Given the description of an element on the screen output the (x, y) to click on. 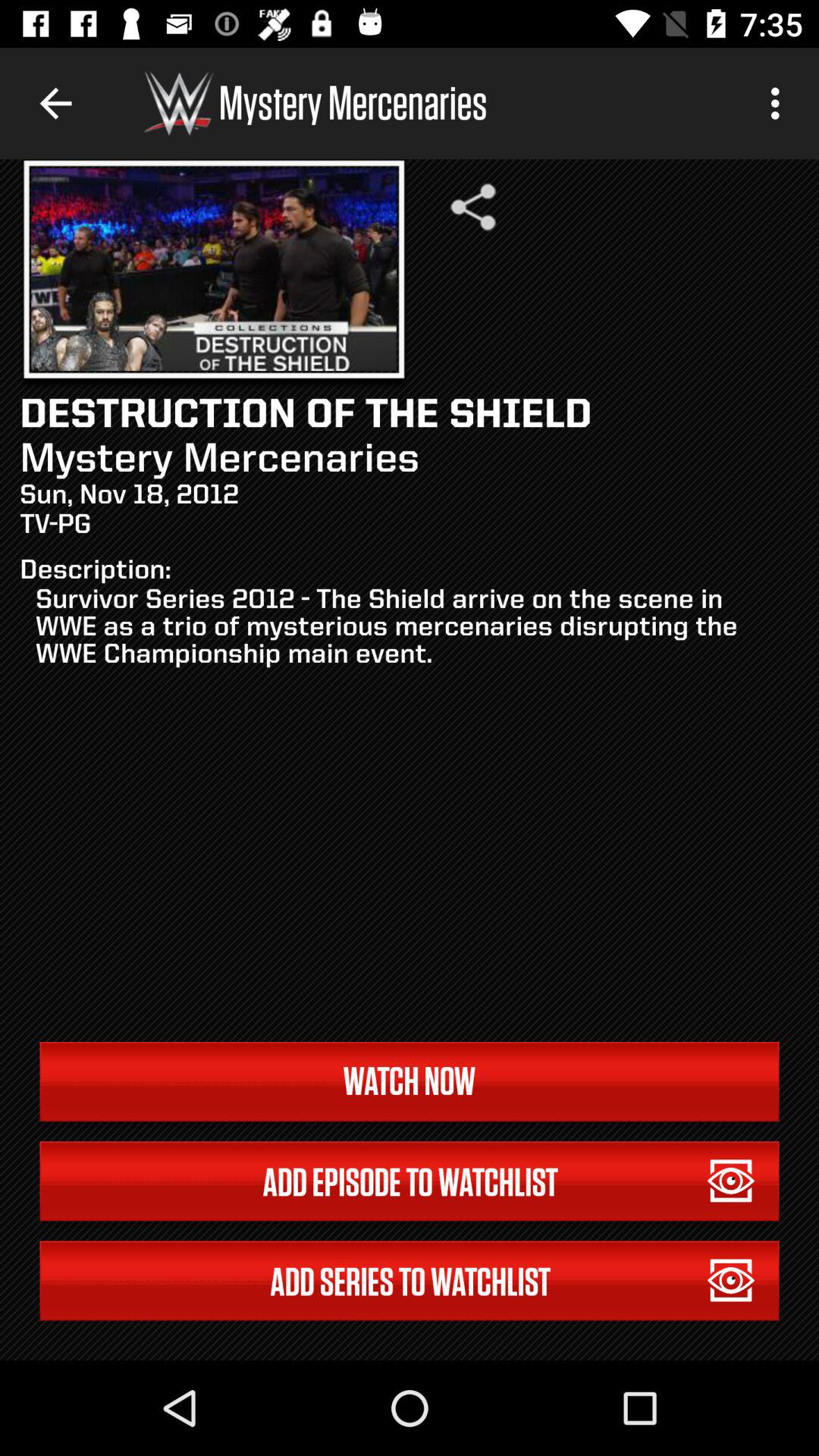
turn off the item above add episode to (409, 1081)
